Given the description of an element on the screen output the (x, y) to click on. 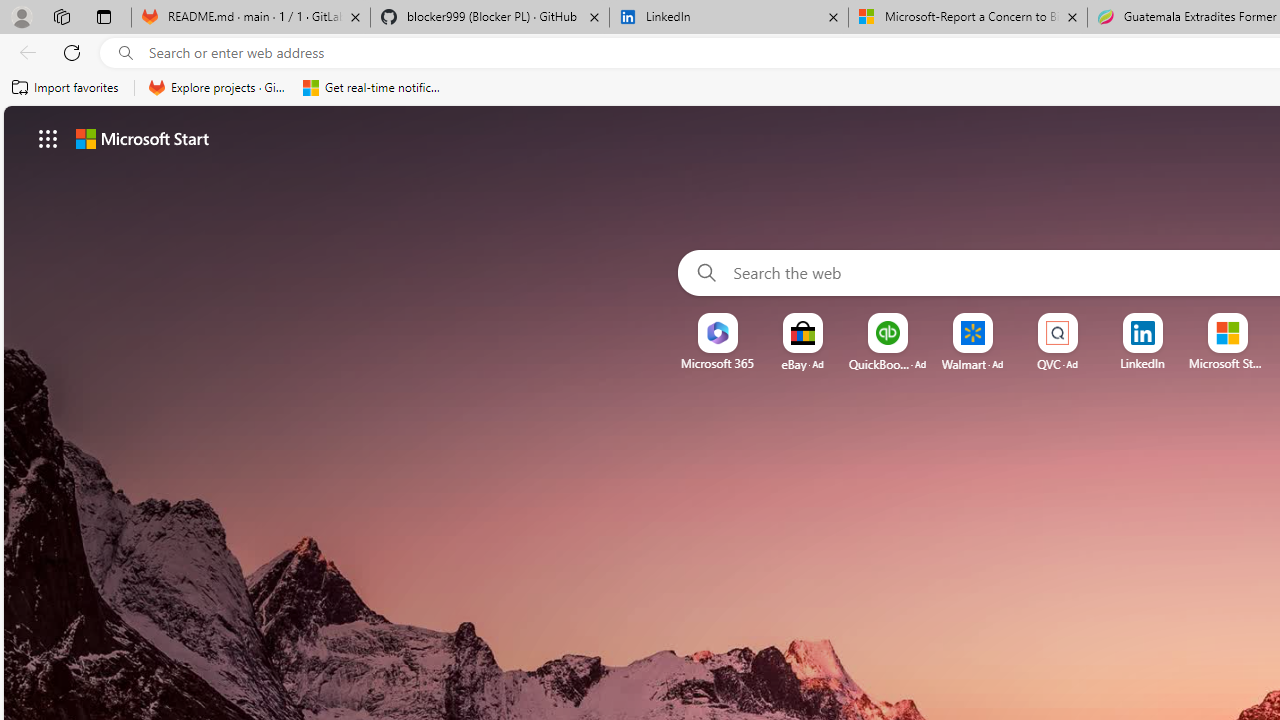
Search icon (125, 53)
Microsoft start (142, 138)
More Options (1260, 320)
